Given the description of an element on the screen output the (x, y) to click on. 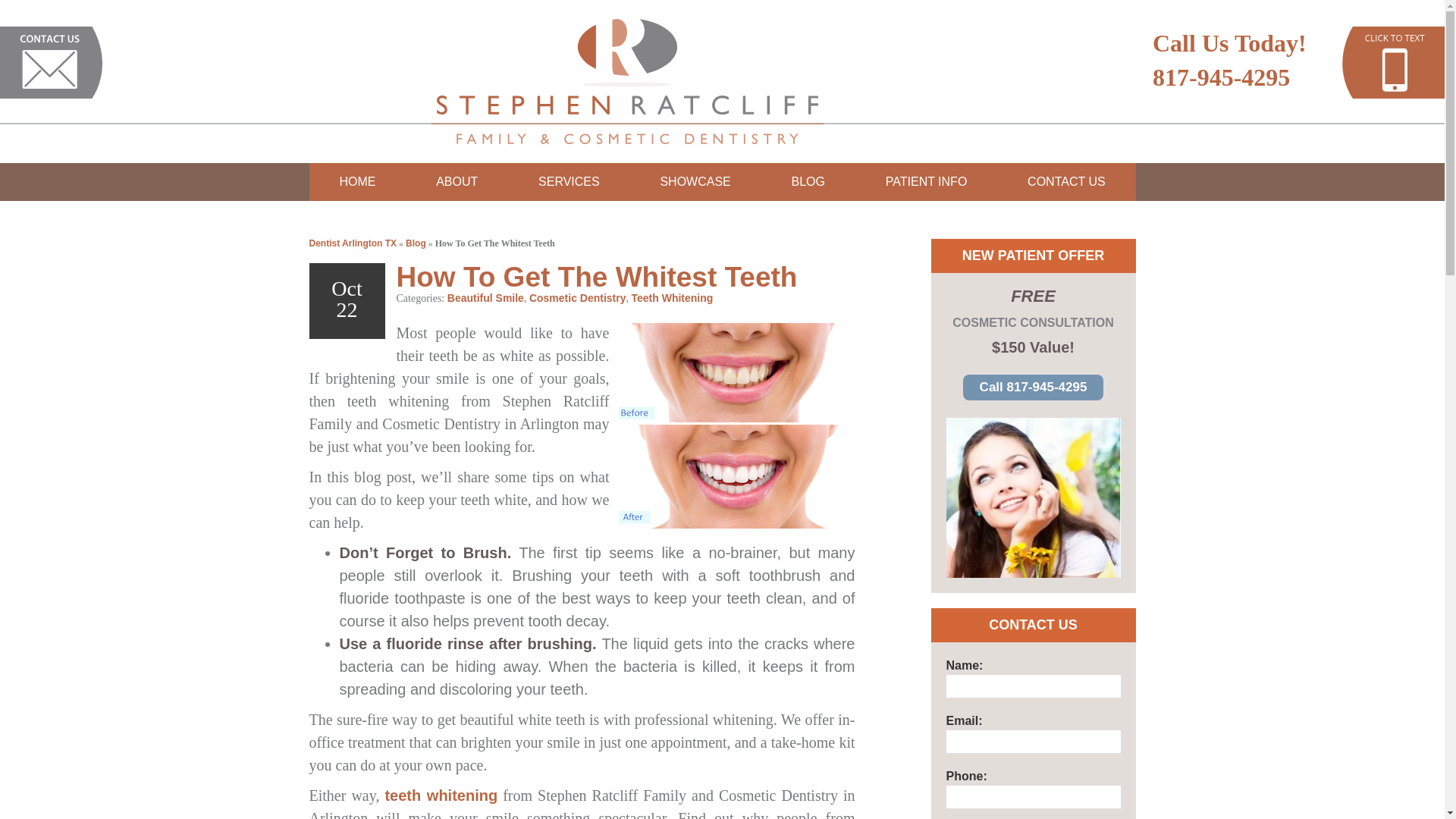
SERVICES (568, 181)
HOME (357, 181)
ABOUT (457, 181)
